Given the description of an element on the screen output the (x, y) to click on. 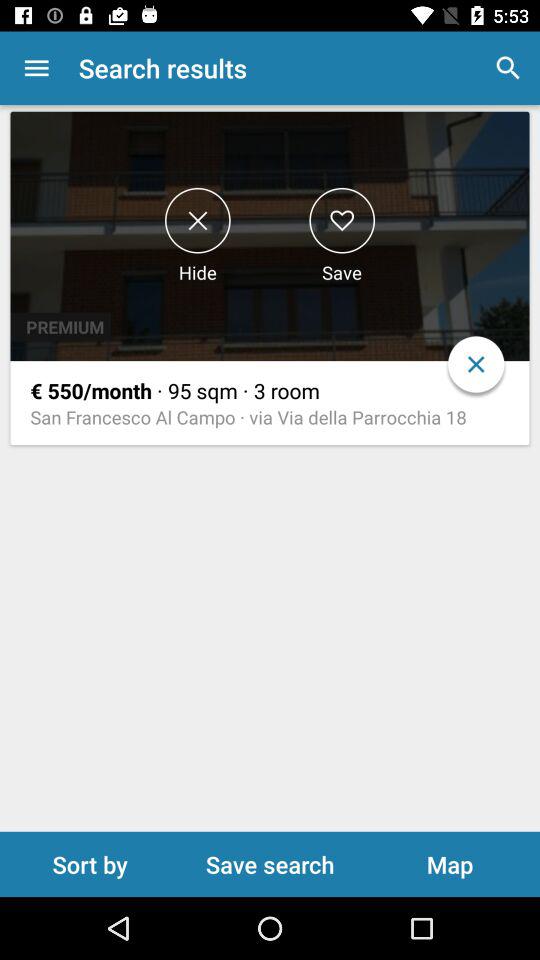
swipe to save search (270, 863)
